Given the description of an element on the screen output the (x, y) to click on. 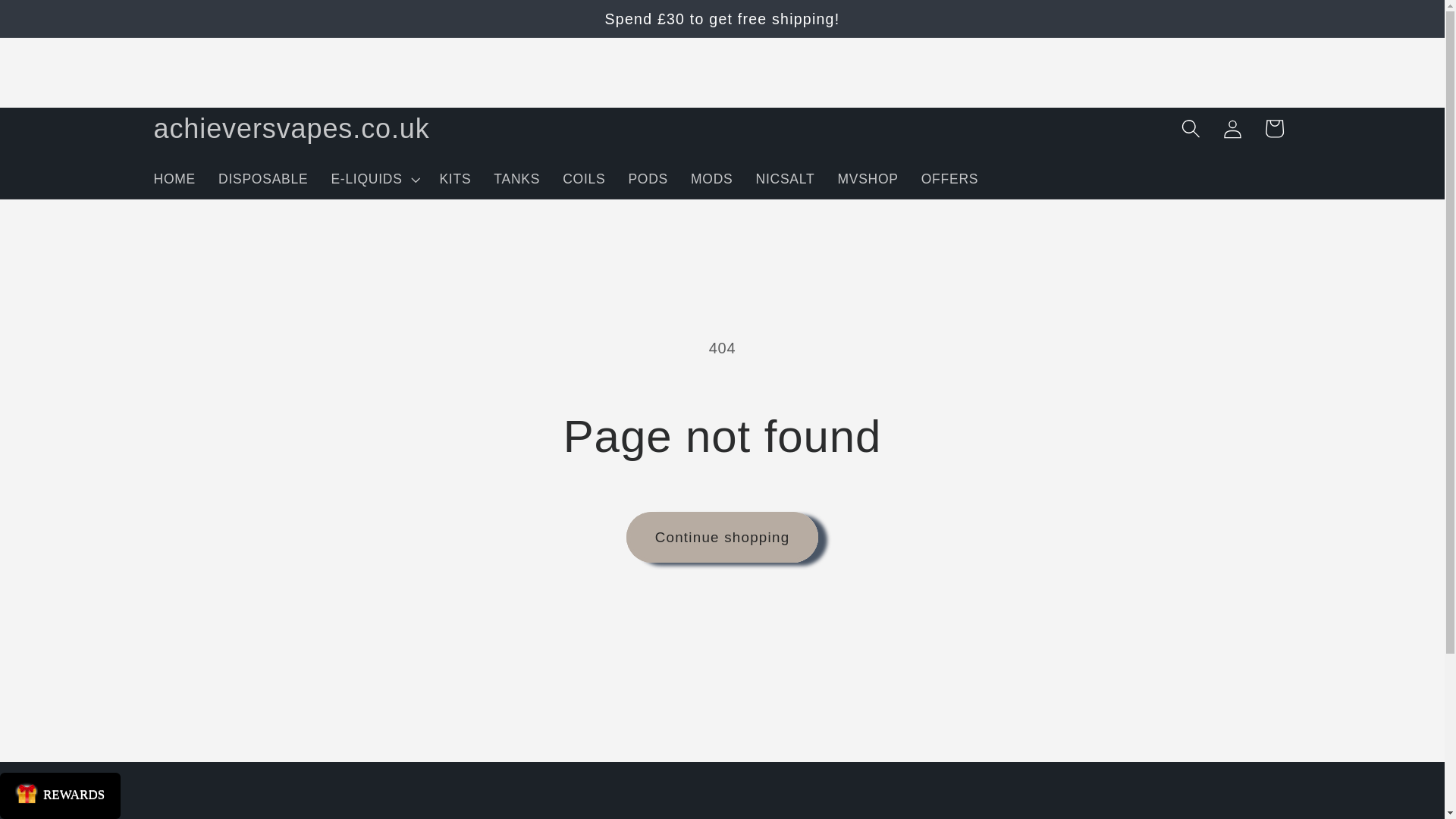
Log in (1232, 128)
Skip to content (60, 24)
NICSALT (785, 178)
Cart (1273, 128)
MVSHOP (866, 178)
Continue shopping (722, 536)
OFFERS (950, 178)
achieversvapes.co.uk (291, 128)
TANKS (516, 178)
DISPOSABLE (262, 178)
PODS (647, 178)
MODS (711, 178)
KITS (454, 178)
COILS (583, 178)
